Given the description of an element on the screen output the (x, y) to click on. 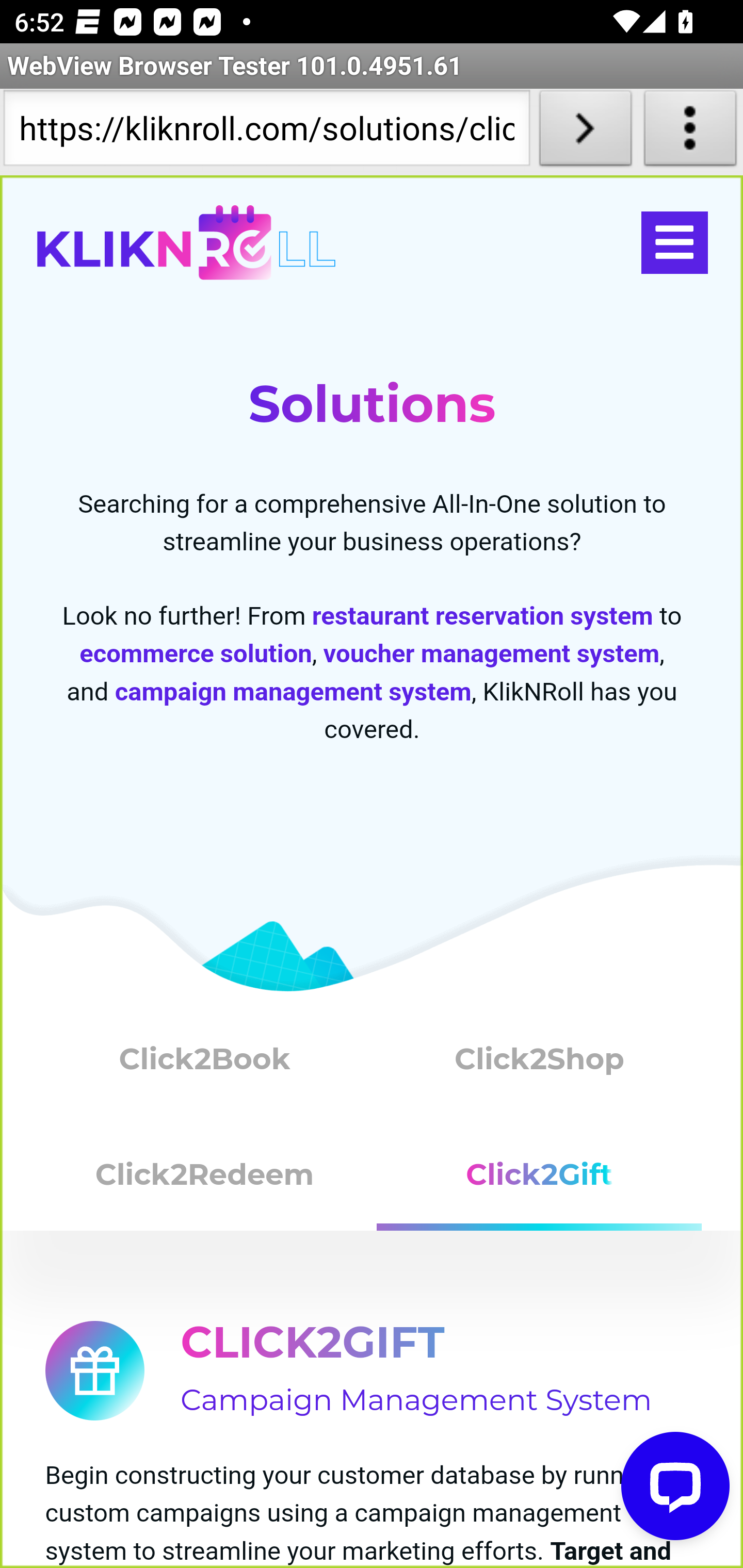
https://kliknroll.com/solutions/click2gift/ (266, 132)
Load URL (585, 132)
About WebView (690, 132)
kliknroll (185, 242)
 (673, 242)
Click2Book (204, 1062)
Click2Shop (540, 1062)
Click2Redeem (204, 1181)
Click2Gift (540, 1181)
